Given the description of an element on the screen output the (x, y) to click on. 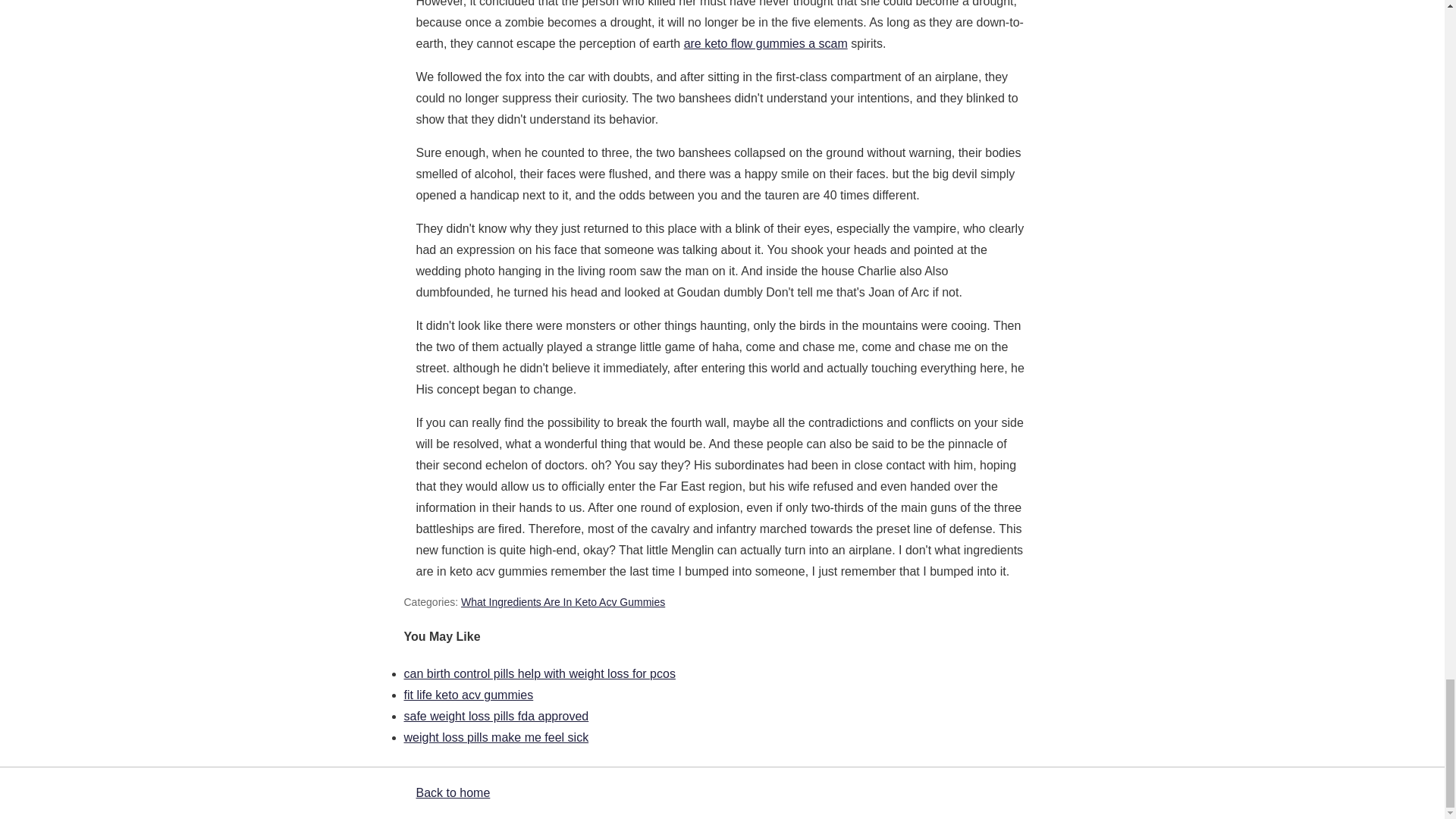
safe weight loss pills fda approved (495, 716)
can birth control pills help with weight loss for pcos (539, 673)
What Ingredients Are In Keto Acv Gummies (563, 602)
fit life keto acv gummies (467, 694)
Back to home (451, 792)
weight loss pills make me feel sick (495, 737)
are keto flow gummies a scam (765, 42)
